Given the description of an element on the screen output the (x, y) to click on. 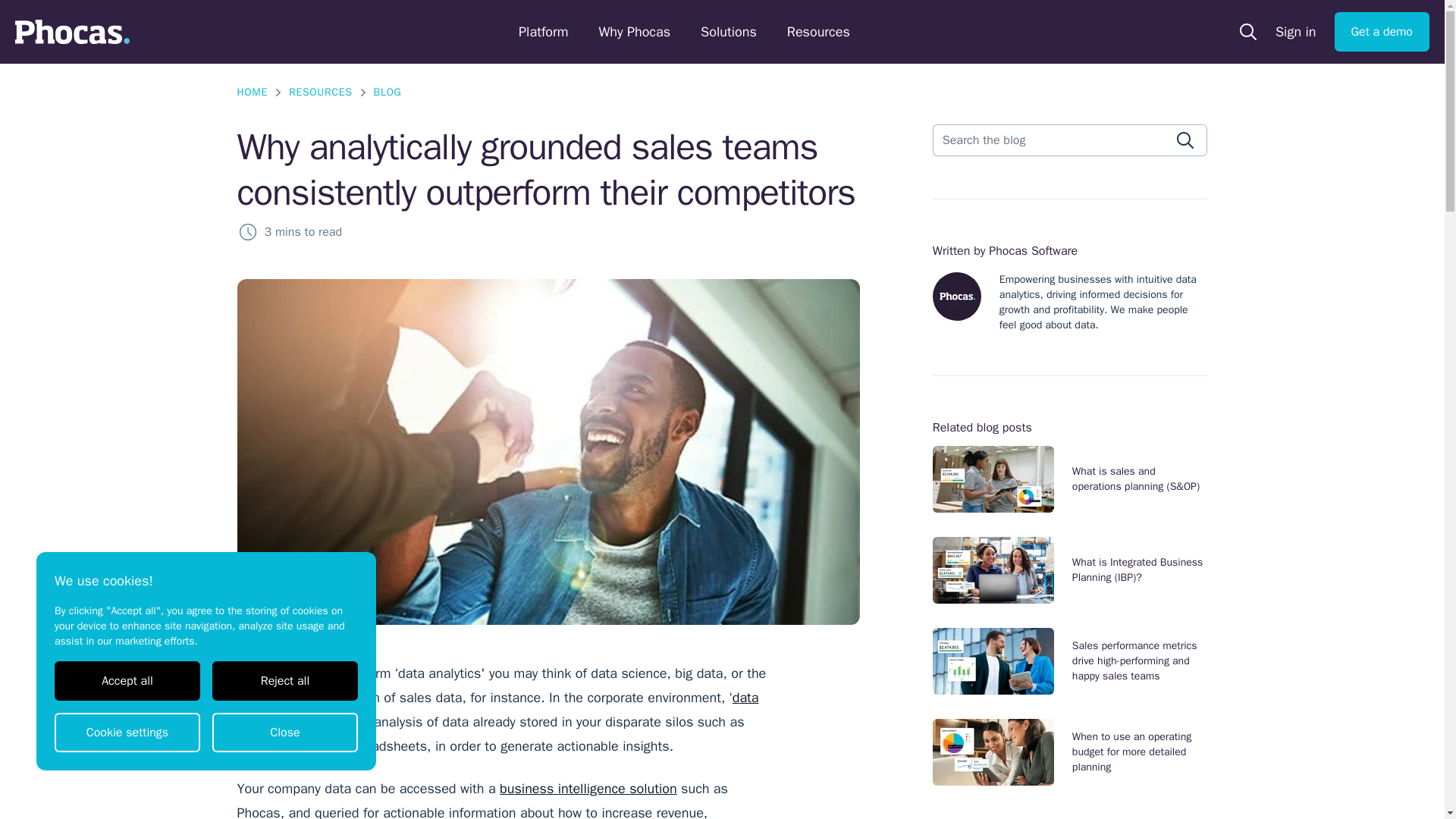
Why Phocas (633, 31)
Resources (818, 31)
Sign in (1295, 31)
Get a demo (1382, 31)
